Given the description of an element on the screen output the (x, y) to click on. 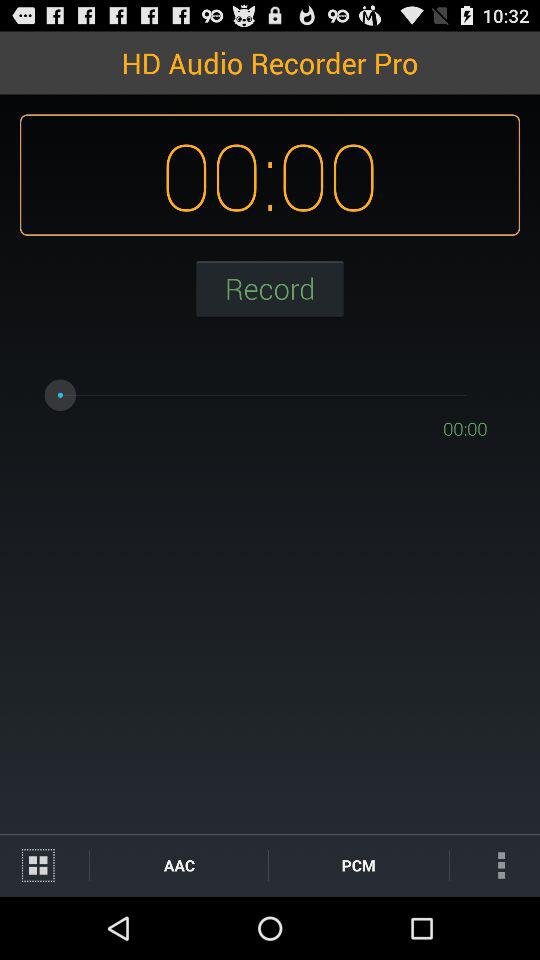
tap item to the left of the aac (44, 864)
